Given the description of an element on the screen output the (x, y) to click on. 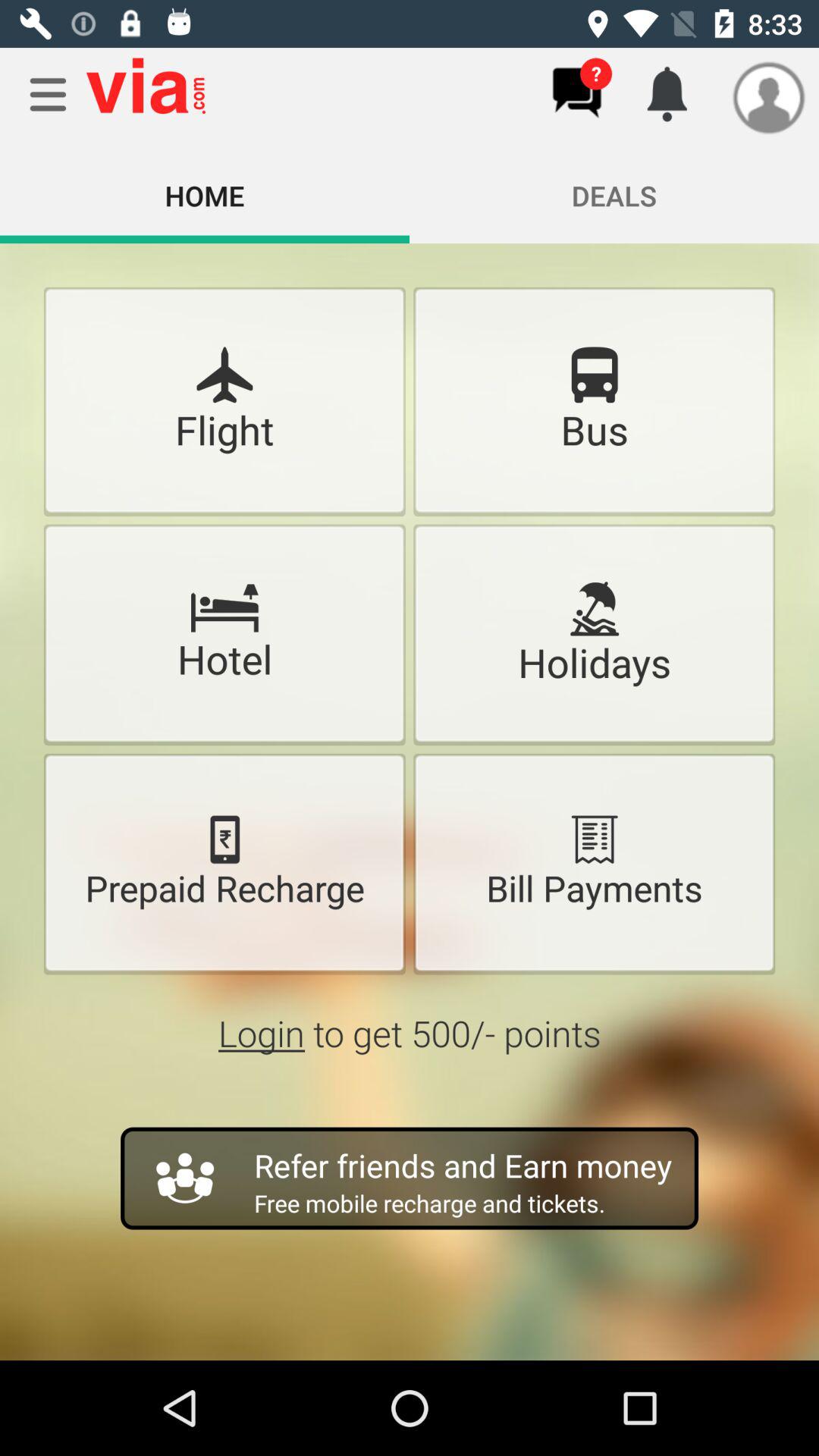
messages (576, 92)
